Given the description of an element on the screen output the (x, y) to click on. 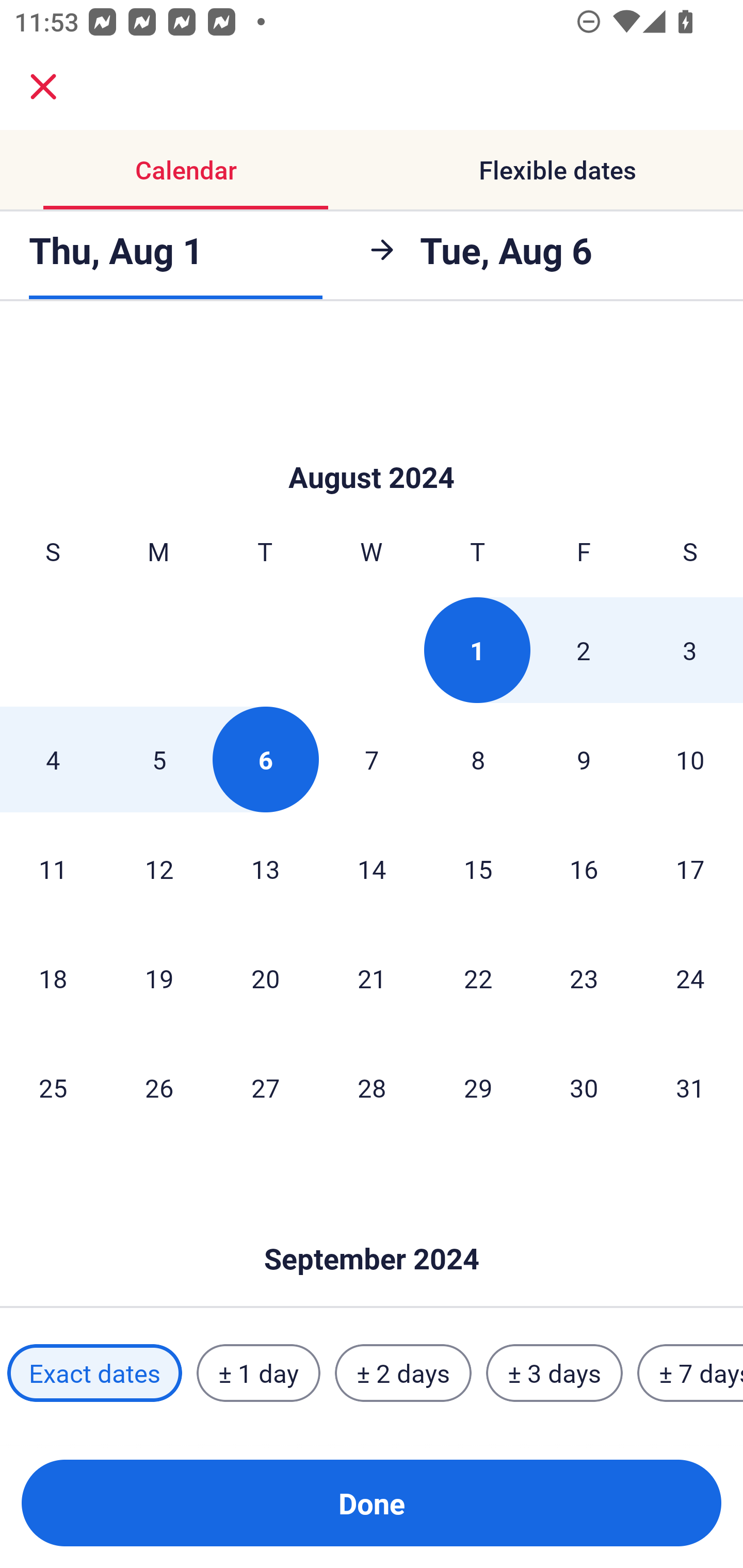
close. (43, 86)
Flexible dates (557, 170)
Skip to Done (371, 445)
7 Wednesday, August 7, 2024 (371, 759)
8 Thursday, August 8, 2024 (477, 759)
9 Friday, August 9, 2024 (584, 759)
10 Saturday, August 10, 2024 (690, 759)
11 Sunday, August 11, 2024 (53, 868)
12 Monday, August 12, 2024 (159, 868)
13 Tuesday, August 13, 2024 (265, 868)
14 Wednesday, August 14, 2024 (371, 868)
15 Thursday, August 15, 2024 (477, 868)
16 Friday, August 16, 2024 (584, 868)
17 Saturday, August 17, 2024 (690, 868)
18 Sunday, August 18, 2024 (53, 978)
19 Monday, August 19, 2024 (159, 978)
20 Tuesday, August 20, 2024 (265, 978)
21 Wednesday, August 21, 2024 (371, 978)
22 Thursday, August 22, 2024 (477, 978)
23 Friday, August 23, 2024 (584, 978)
24 Saturday, August 24, 2024 (690, 978)
25 Sunday, August 25, 2024 (53, 1086)
26 Monday, August 26, 2024 (159, 1086)
27 Tuesday, August 27, 2024 (265, 1086)
28 Wednesday, August 28, 2024 (371, 1086)
29 Thursday, August 29, 2024 (477, 1086)
30 Friday, August 30, 2024 (584, 1086)
31 Saturday, August 31, 2024 (690, 1086)
Skip to Done (371, 1228)
Exact dates (94, 1372)
± 1 day (258, 1372)
± 2 days (403, 1372)
± 3 days (553, 1372)
± 7 days (690, 1372)
Done (371, 1502)
